Given the description of an element on the screen output the (x, y) to click on. 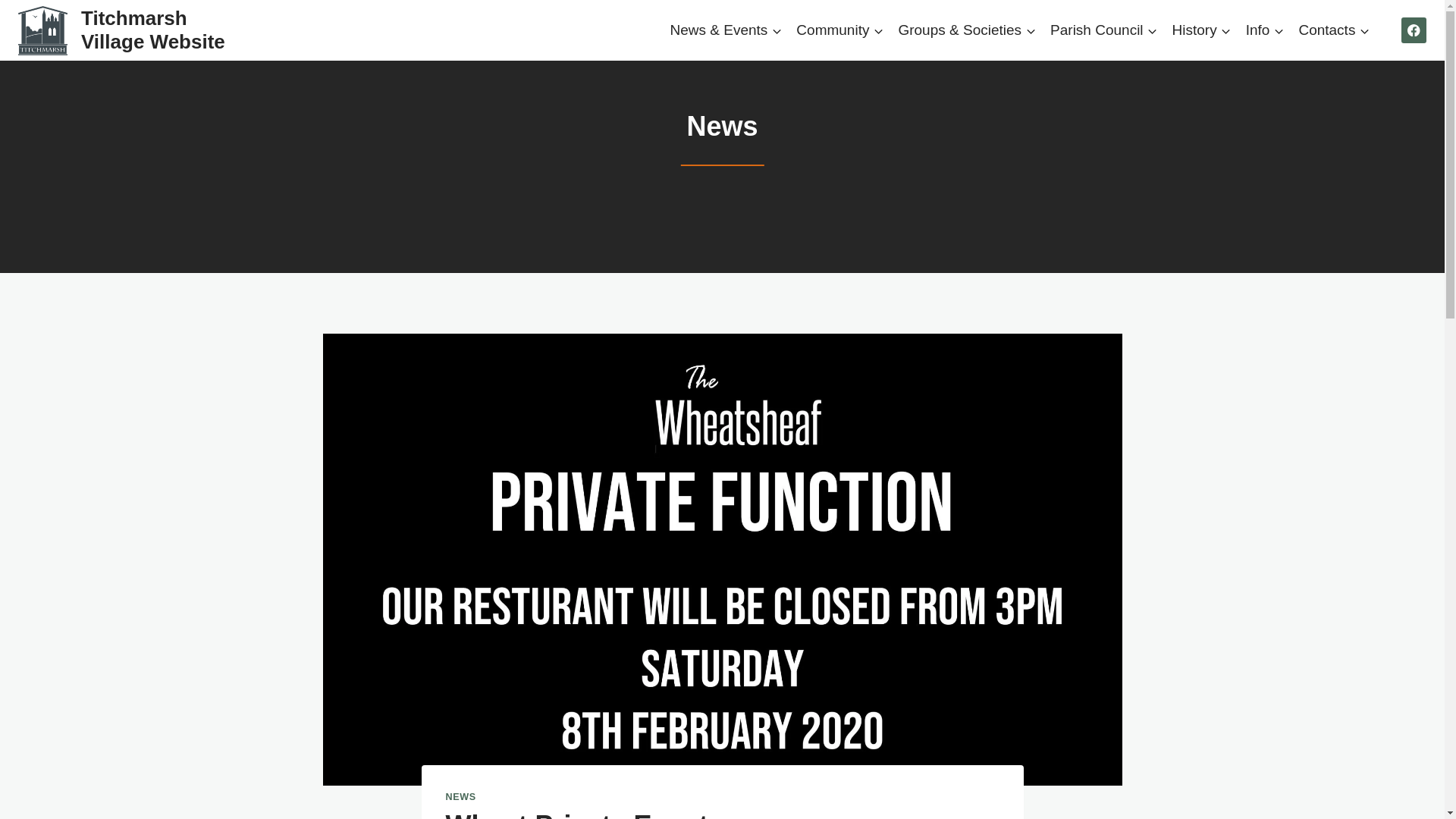
Community (840, 29)
Titchmarsh Village Website (124, 30)
Parish Council (1104, 29)
History (1201, 29)
